Given the description of an element on the screen output the (x, y) to click on. 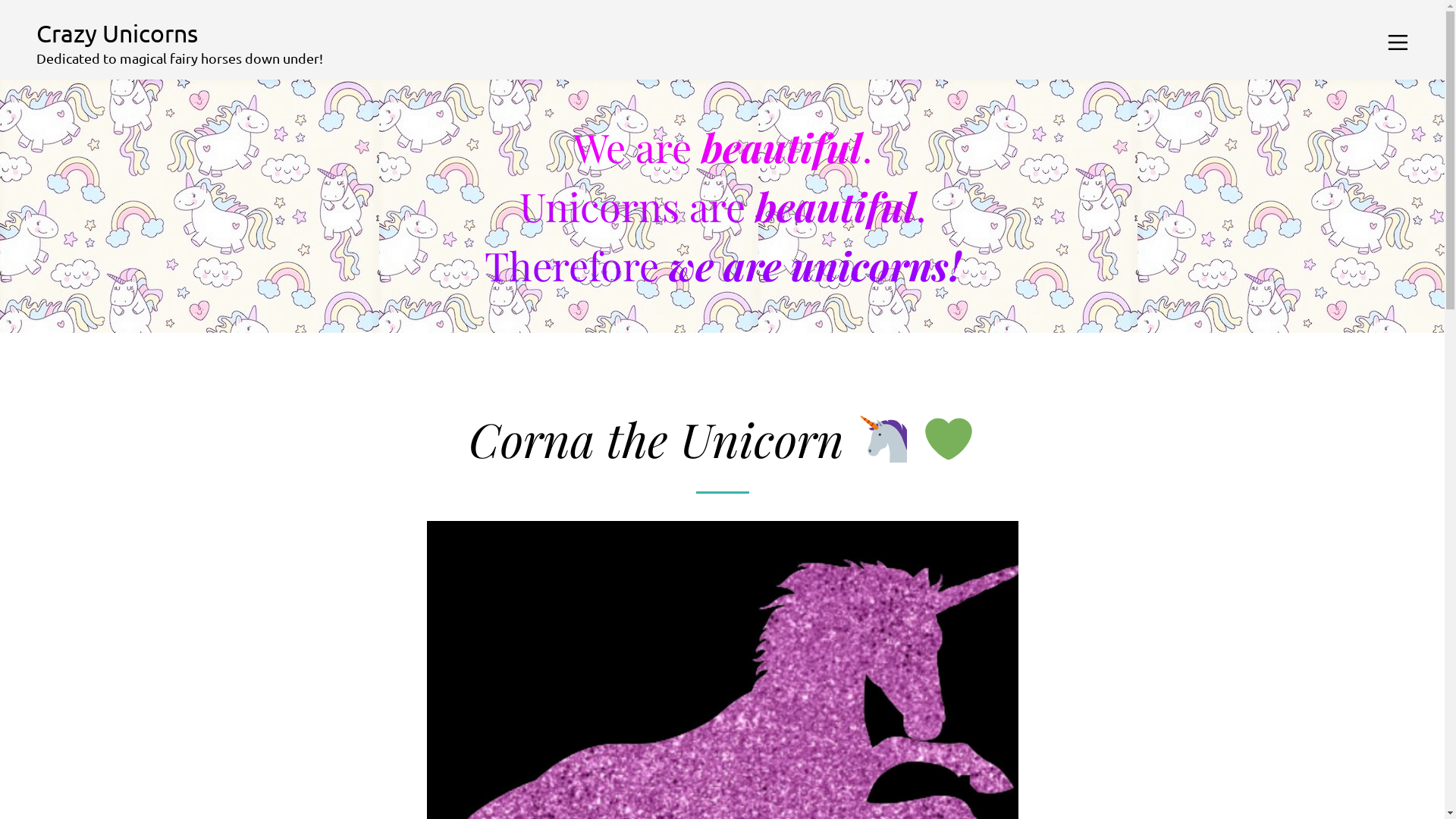
Crazy Unicorns Element type: text (179, 33)
